Given the description of an element on the screen output the (x, y) to click on. 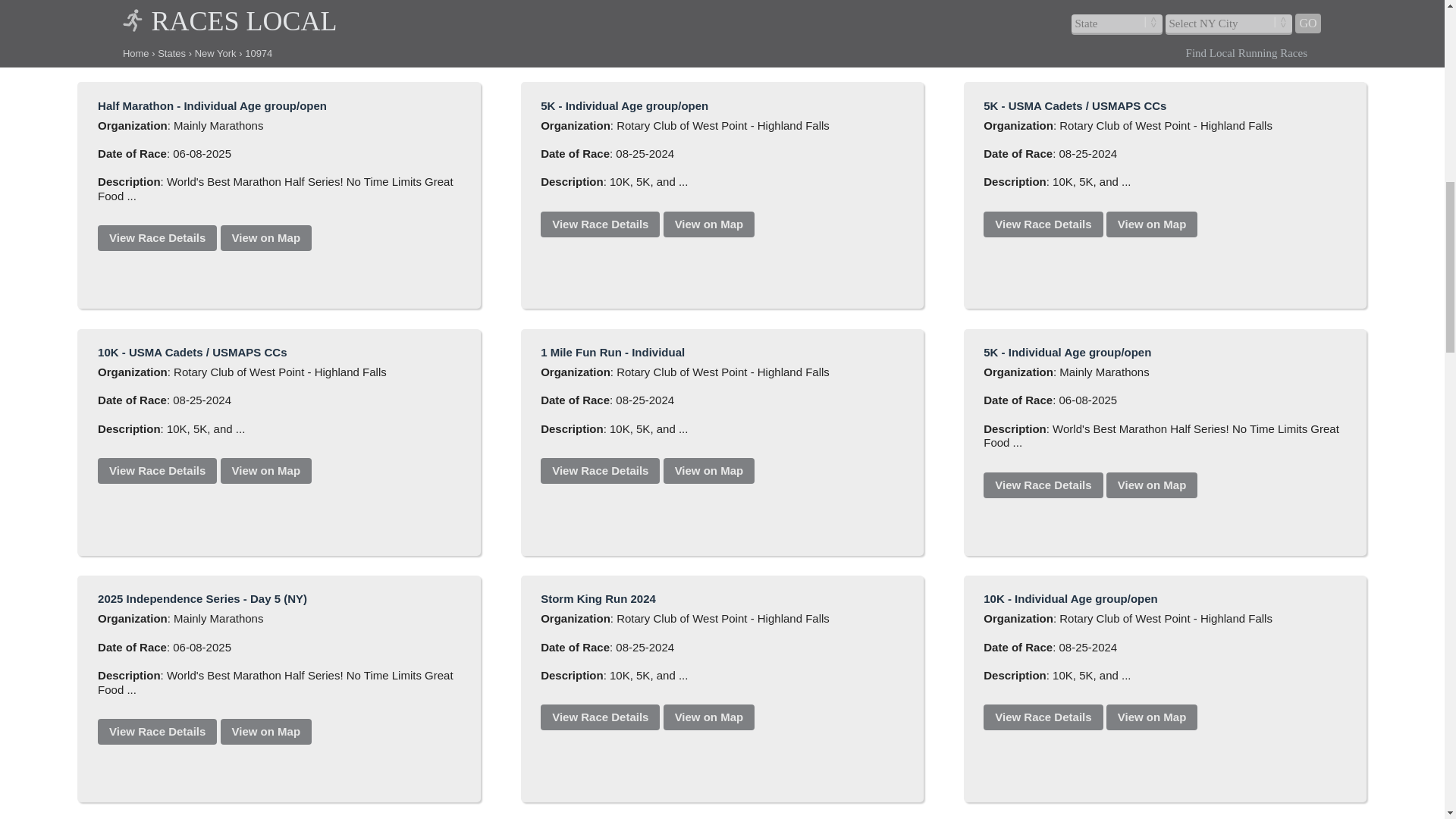
View on Map (709, 2)
View on Map (1152, 484)
View on Map (709, 224)
View on Map (267, 470)
View Race Details (1043, 484)
Lock Laces (279, 22)
View Race Details (599, 2)
View on Map (267, 237)
View Race Details (1043, 224)
View Race Details (1043, 2)
